Given the description of an element on the screen output the (x, y) to click on. 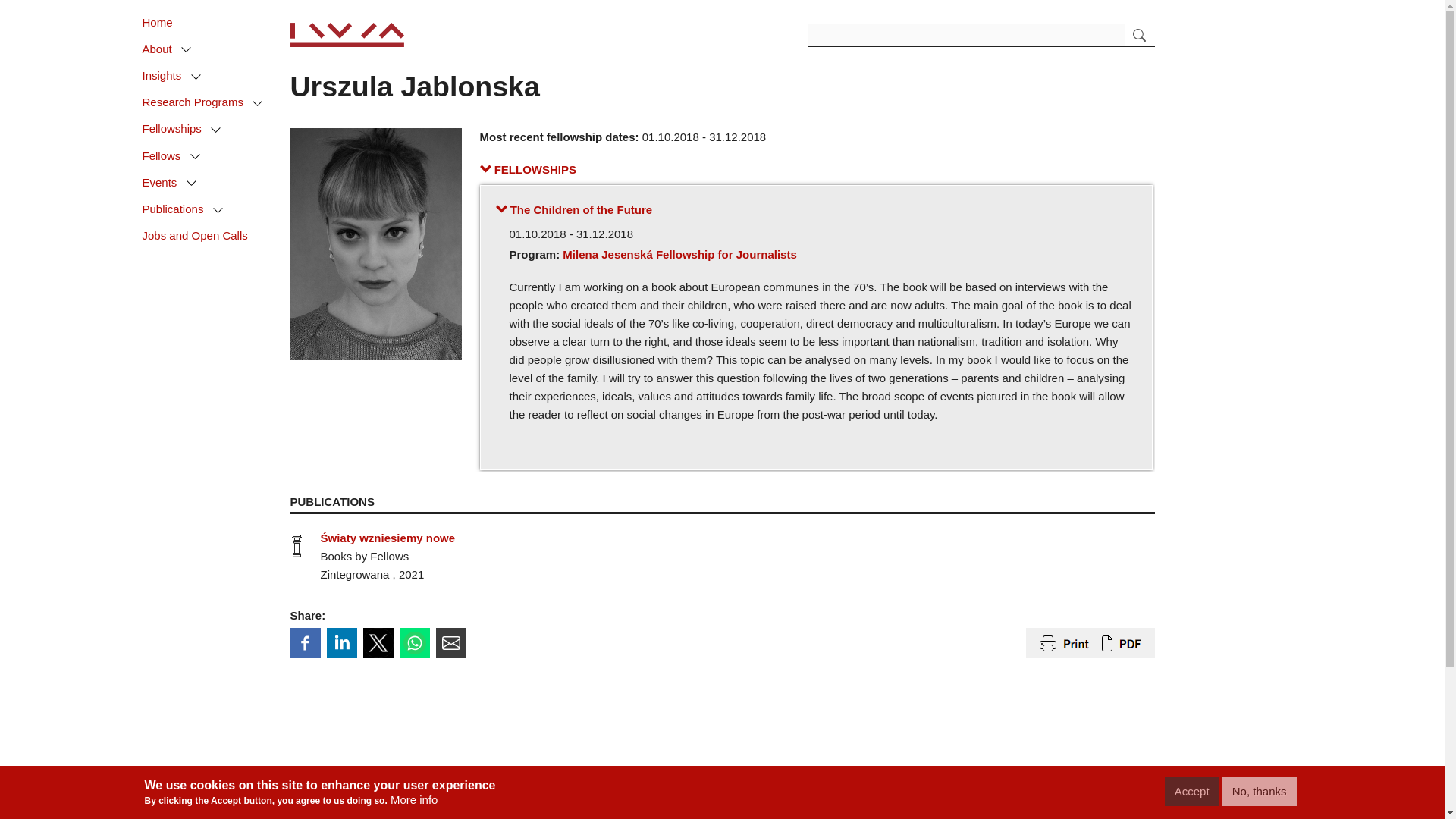
Linkedin (341, 643)
Email (450, 643)
Facebook (304, 643)
Toggle (196, 76)
Insights (164, 75)
Toggle (257, 104)
Search (1139, 34)
Search (1139, 34)
Open positions and calls at the IWM (197, 236)
Toggle (195, 157)
Home (346, 33)
Enter the terms you wish to search for. (966, 34)
Toggle (215, 130)
Home (160, 22)
